Given the description of an element on the screen output the (x, y) to click on. 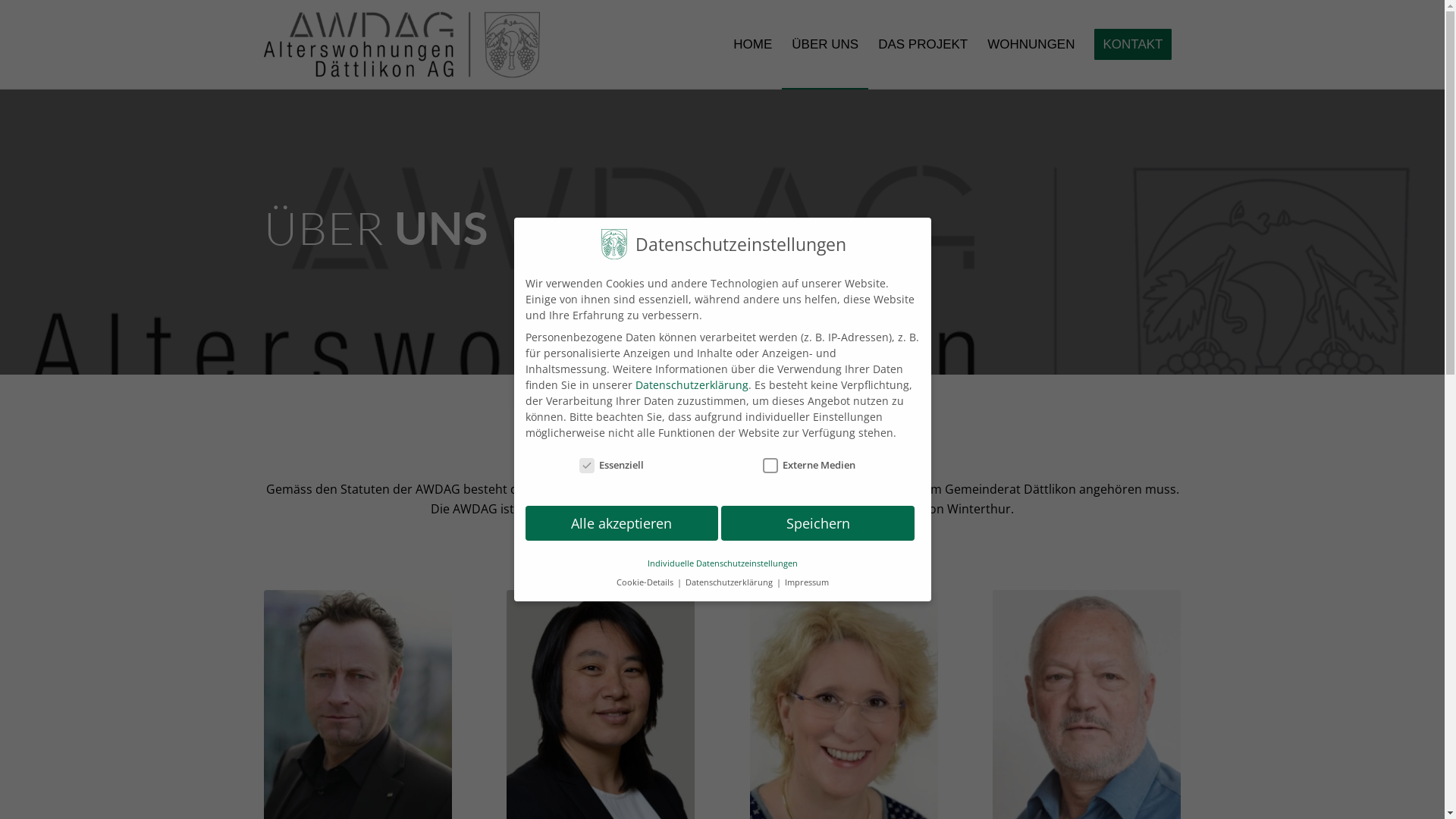
HOME Element type: text (752, 44)
Impressum Element type: text (806, 582)
Alle akzeptieren Element type: text (621, 522)
Speichern Element type: text (817, 522)
Cookie-Details Element type: text (644, 582)
logo Element type: hover (401, 44)
WOHNUNGEN Element type: text (1030, 44)
Individuelle Datenschutzeinstellungen Element type: text (722, 563)
KONTAKT Element type: text (1132, 44)
DAS PROJEKT Element type: text (922, 44)
